Given the description of an element on the screen output the (x, y) to click on. 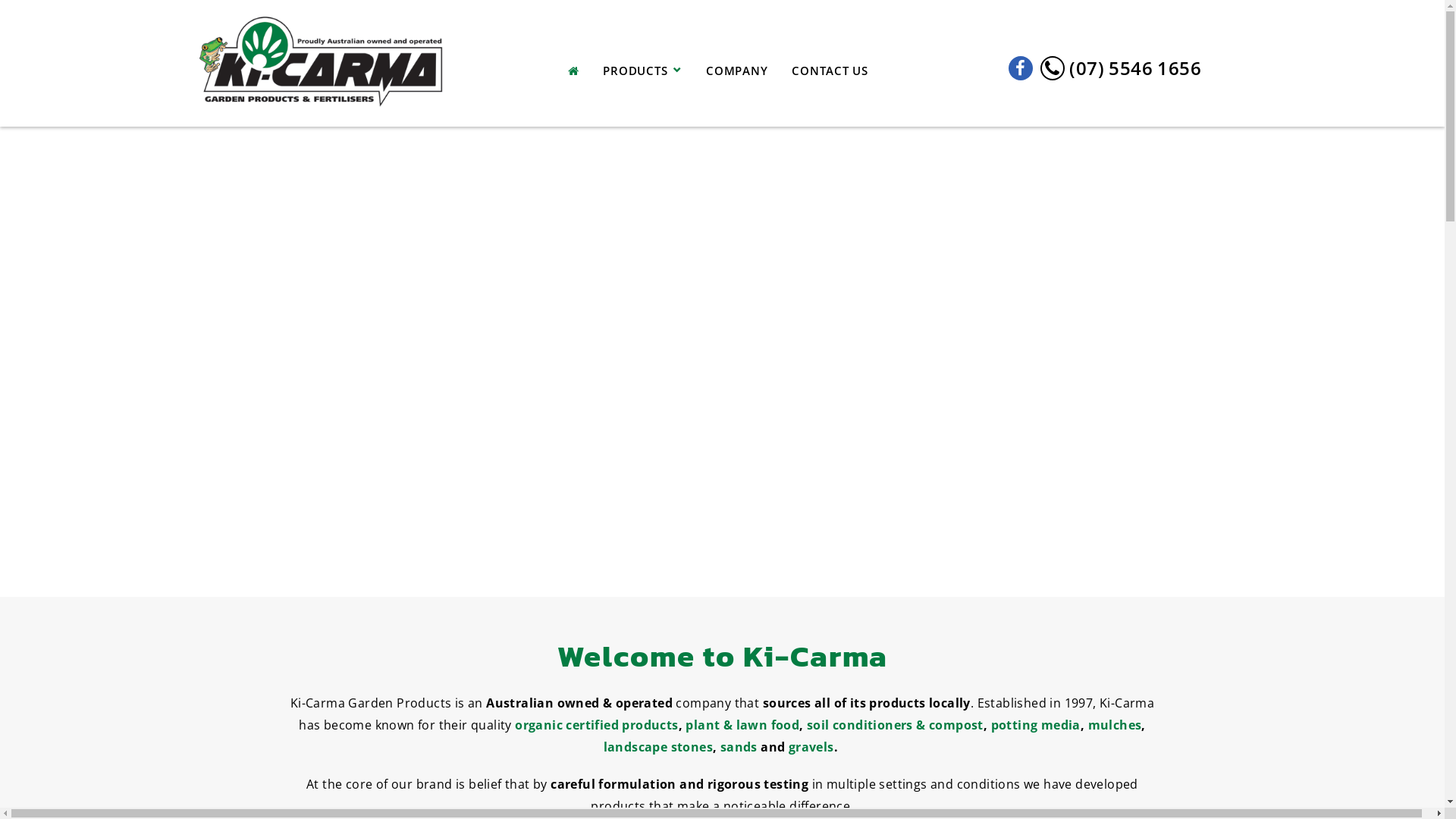
PRODUCTS Element type: text (641, 75)
CONTACT US Element type: text (829, 75)
mulches Element type: text (1115, 724)
potting media Element type: text (1035, 724)
organic certified products Element type: text (595, 724)
gravels Element type: text (811, 746)
plant & lawn food Element type: text (742, 724)
landscape stones Element type: text (657, 746)
sands Element type: text (738, 746)
facebook Element type: hover (1020, 68)
soil conditioners & compost Element type: text (894, 724)
COMPANY Element type: text (736, 75)
